Given the description of an element on the screen output the (x, y) to click on. 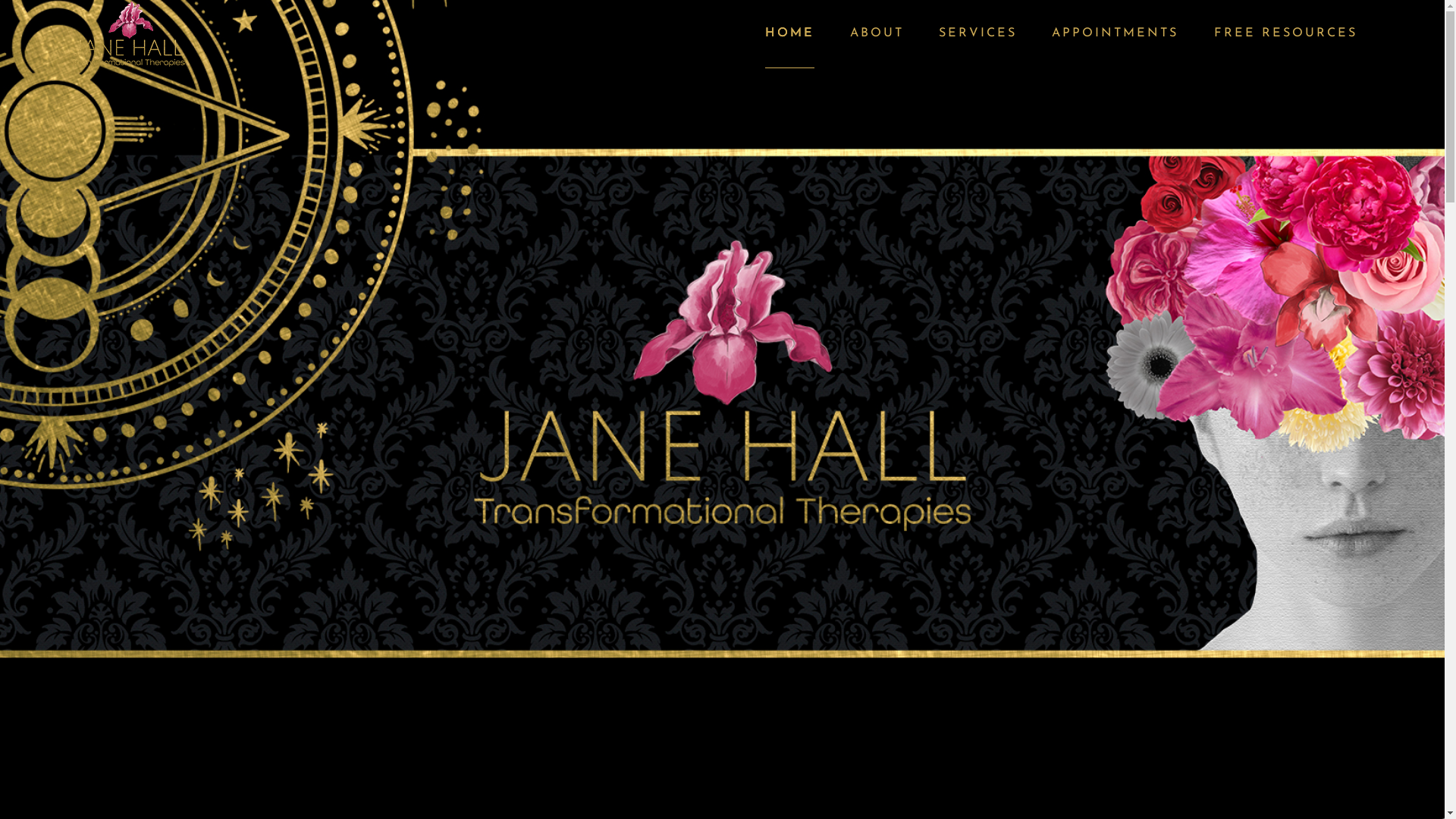
FREE RESOURCES Element type: text (1285, 33)
HOME Element type: text (789, 34)
APPOINTMENTS Element type: text (1114, 33)
SERVICES Element type: text (977, 33)
ABOUT Element type: text (876, 33)
